Given the description of an element on the screen output the (x, y) to click on. 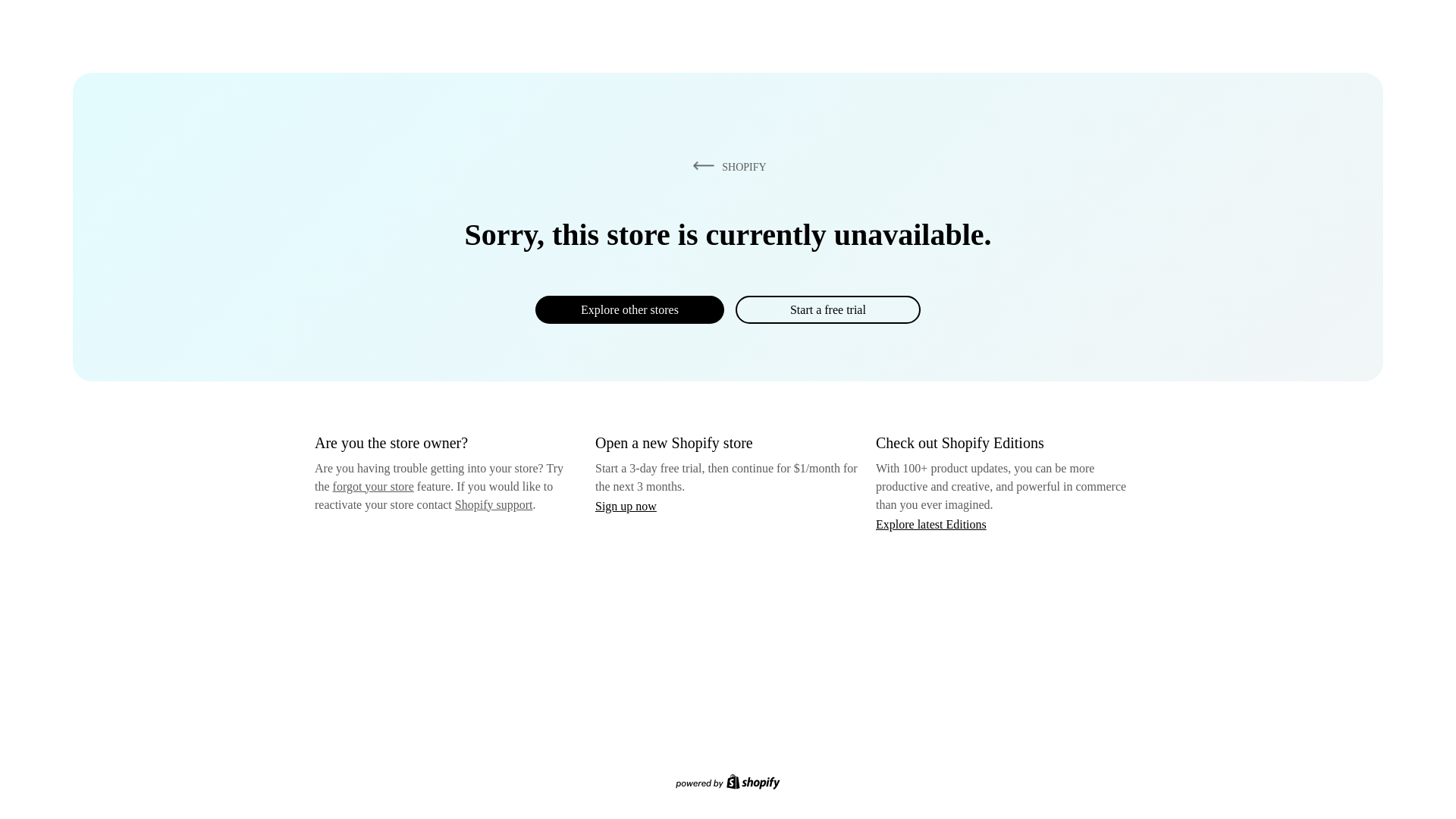
SHOPIFY (726, 166)
Shopify support (493, 504)
forgot your store (373, 486)
Explore other stores (629, 309)
Explore latest Editions (931, 523)
Start a free trial (827, 309)
Sign up now (625, 505)
